Given the description of an element on the screen output the (x, y) to click on. 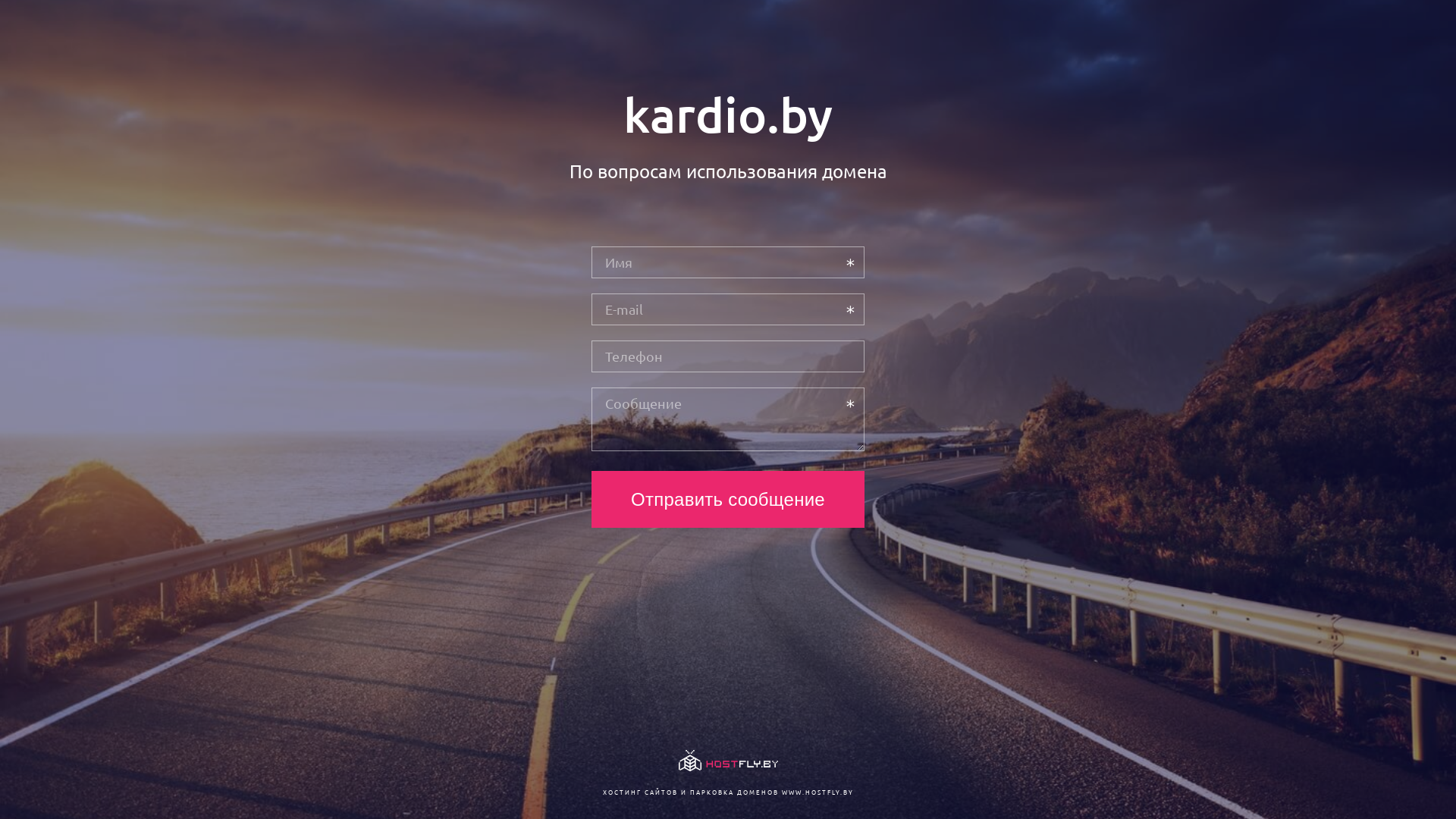
WWW.HOSTFLY.BY Element type: text (817, 791)
